Given the description of an element on the screen output the (x, y) to click on. 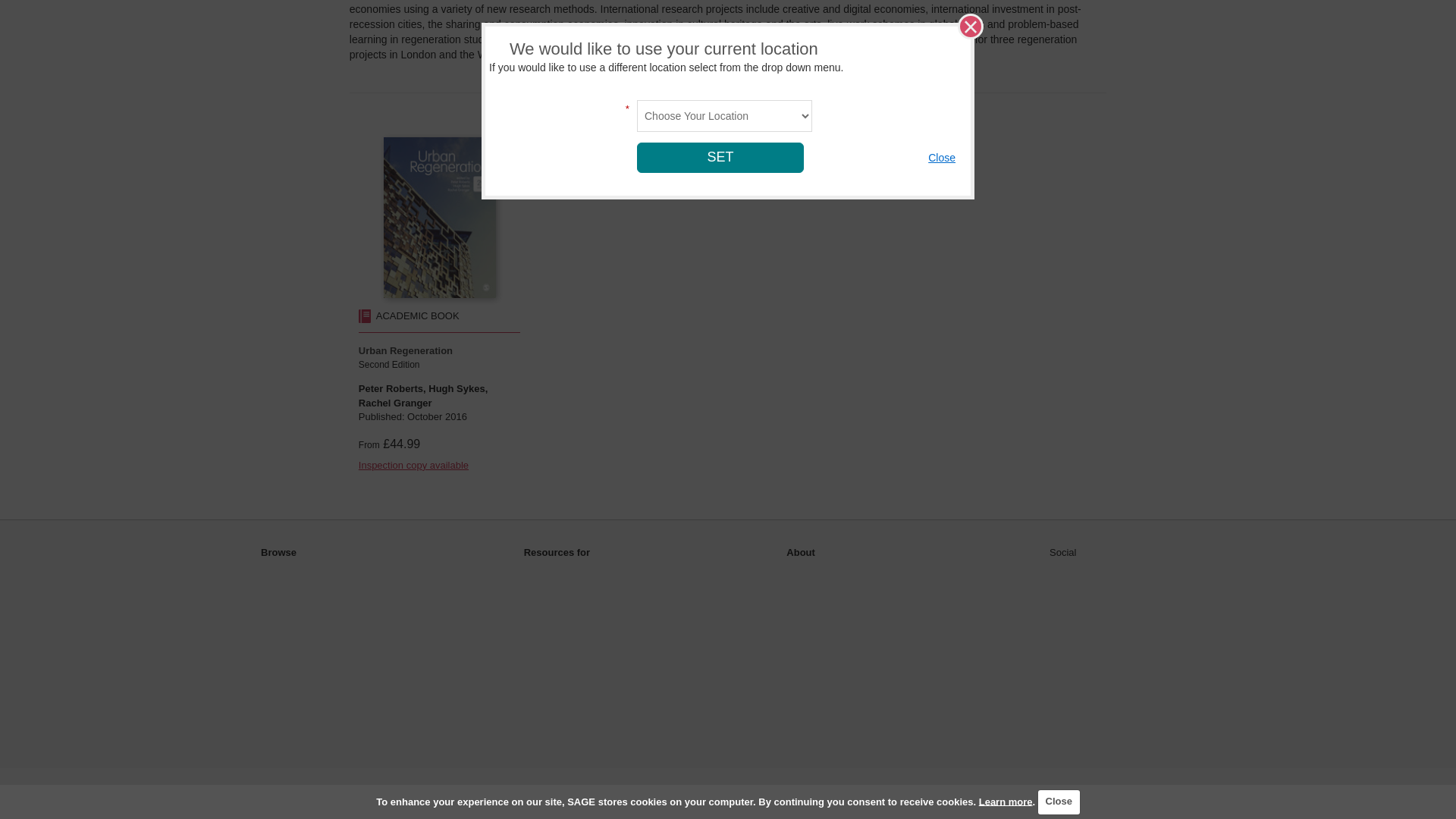
ACADEMIC-ICON CREATED WITH SKETCH. (364, 315)
